Given the description of an element on the screen output the (x, y) to click on. 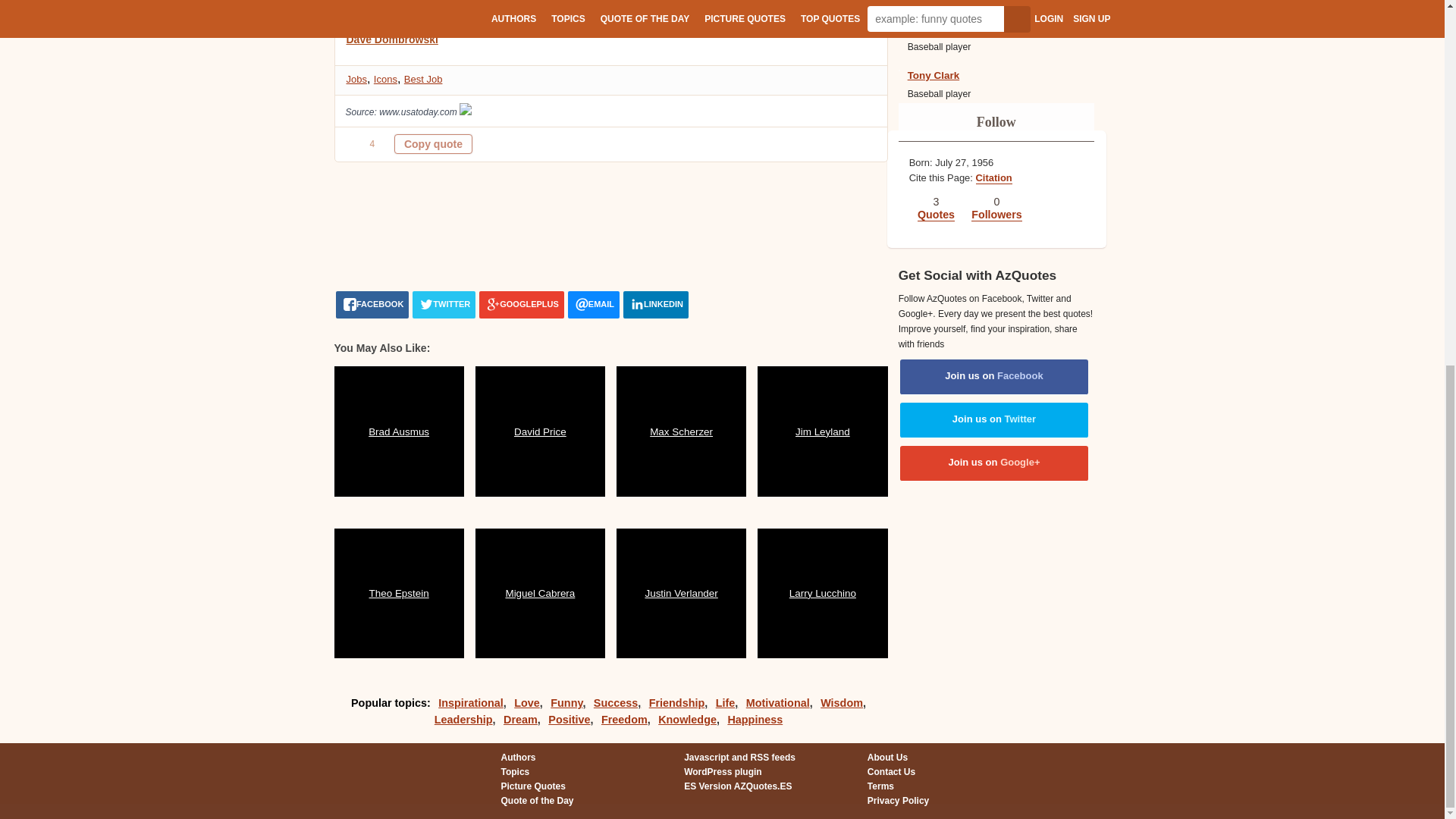
Quote is copied (432, 143)
